Given the description of an element on the screen output the (x, y) to click on. 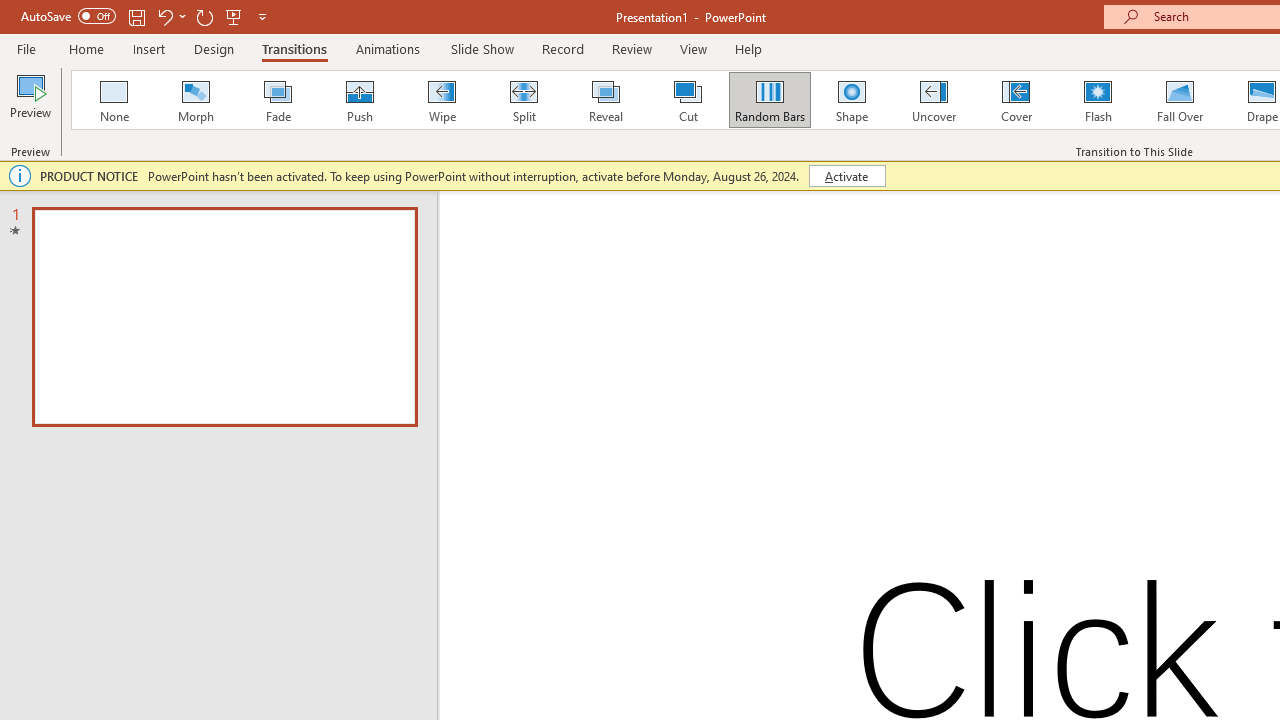
Cover (1016, 100)
